Given the description of an element on the screen output the (x, y) to click on. 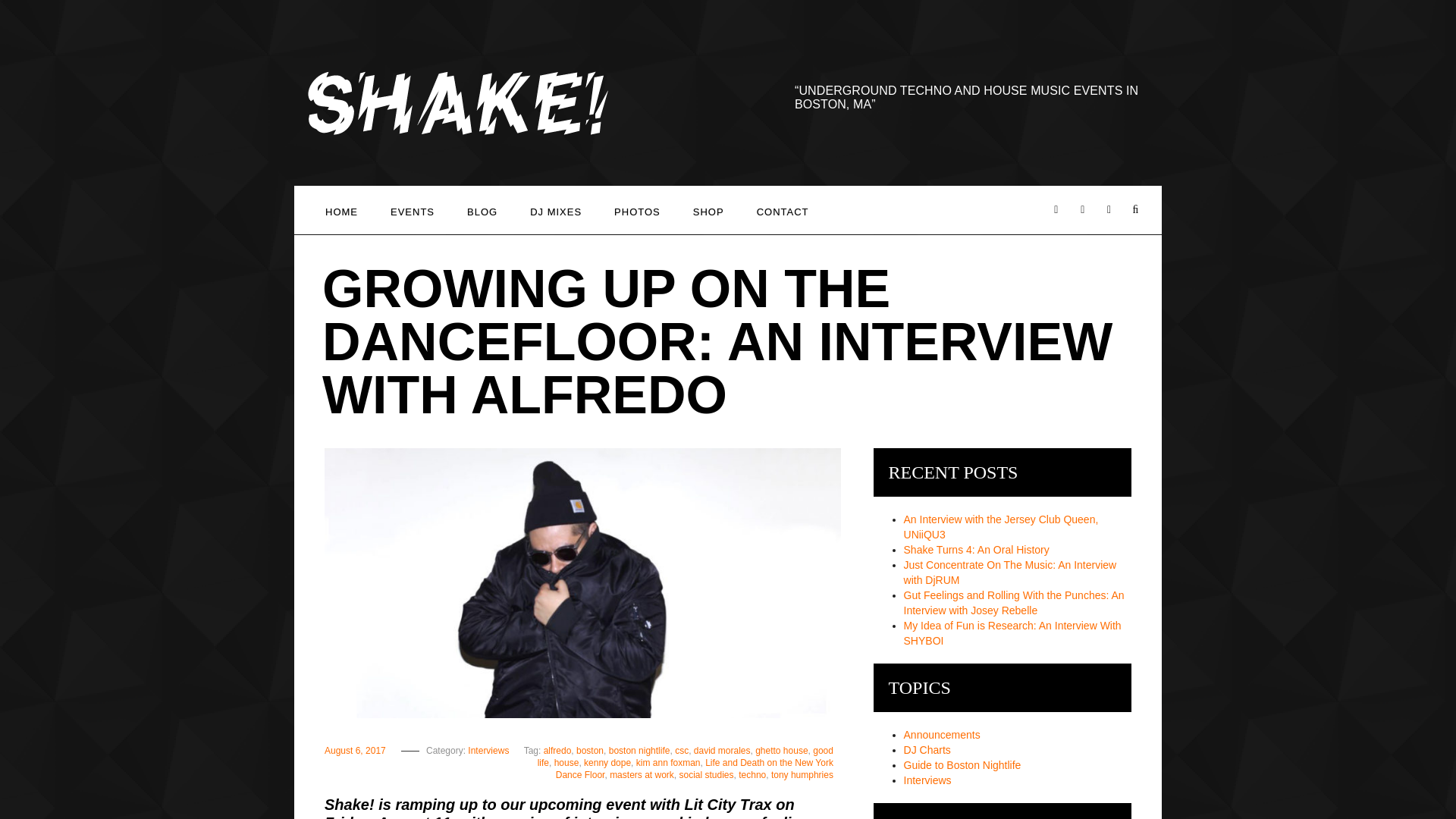
csc (681, 750)
Mixcloud (1135, 209)
DJ MIXES (555, 209)
Facebook (1056, 209)
Interviews (487, 750)
Twitter (1082, 209)
masters at work (642, 774)
PHOTOS (637, 209)
tony humphries (801, 774)
EVENTS (412, 209)
good life (684, 756)
kim ann foxman (668, 762)
social studies (705, 774)
kenny dope (606, 762)
SHOP (709, 209)
